Given the description of an element on the screen output the (x, y) to click on. 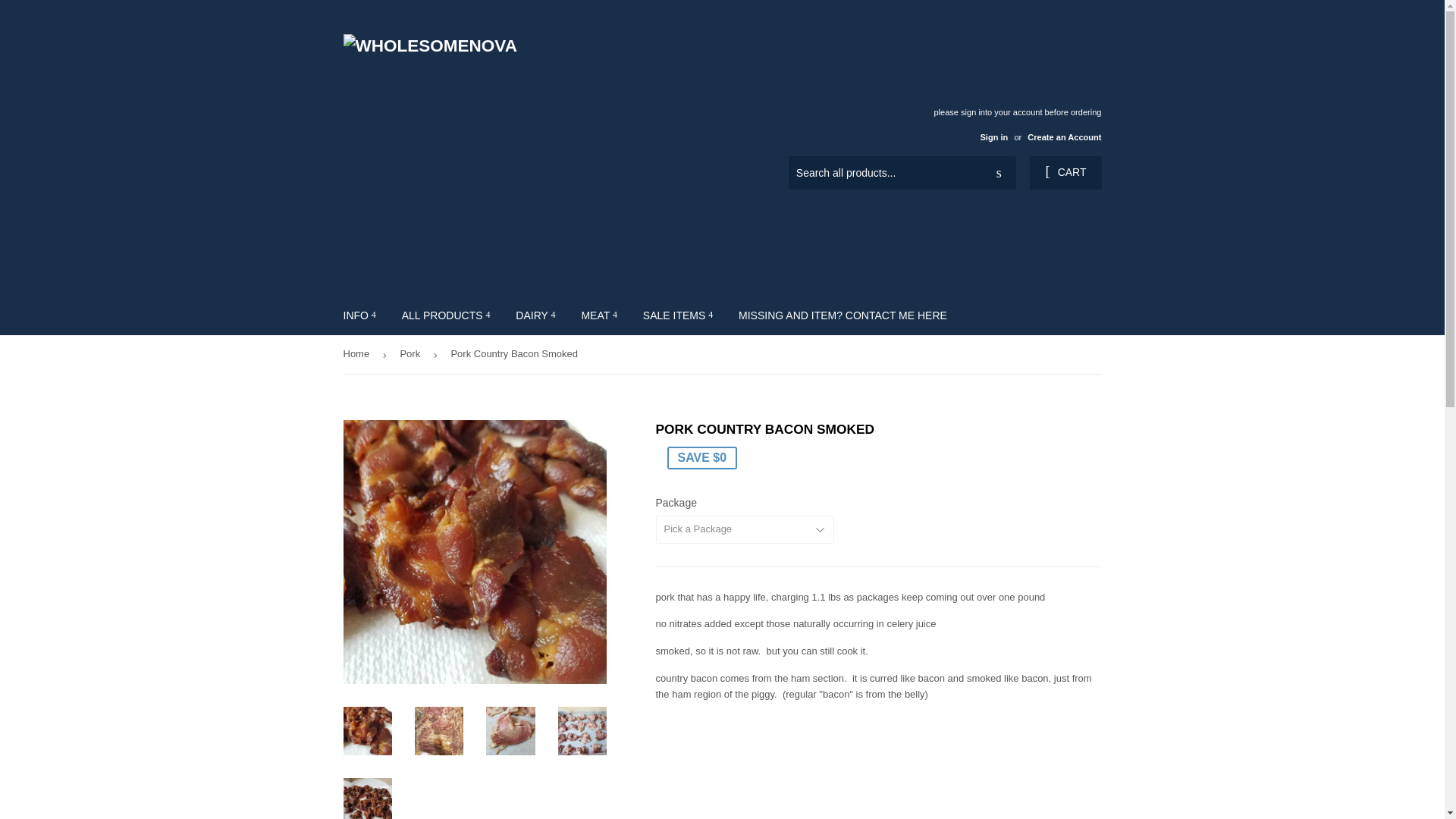
Sign in (993, 136)
ALL PRODUCTS (446, 314)
INFO (359, 314)
Search (998, 173)
Create an Account (1063, 136)
DAIRY (534, 314)
CART (1064, 172)
